Given the description of an element on the screen output the (x, y) to click on. 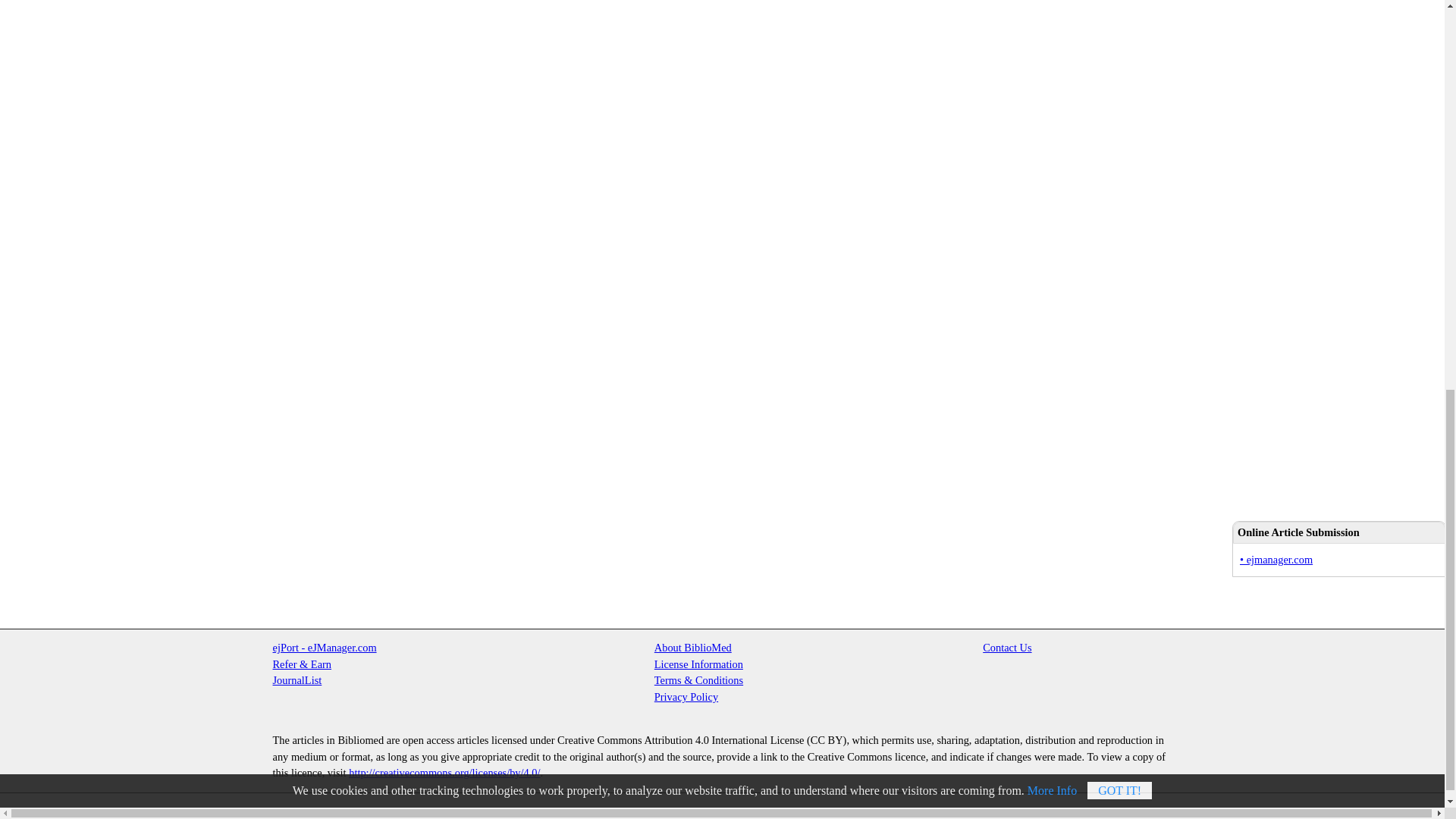
License Information (697, 664)
More Info (1052, 27)
Contact Us (1006, 647)
Privacy Policy (685, 696)
ejPort - eJManager.com (325, 647)
JournalList (297, 680)
About BiblioMed (692, 647)
